Given the description of an element on the screen output the (x, y) to click on. 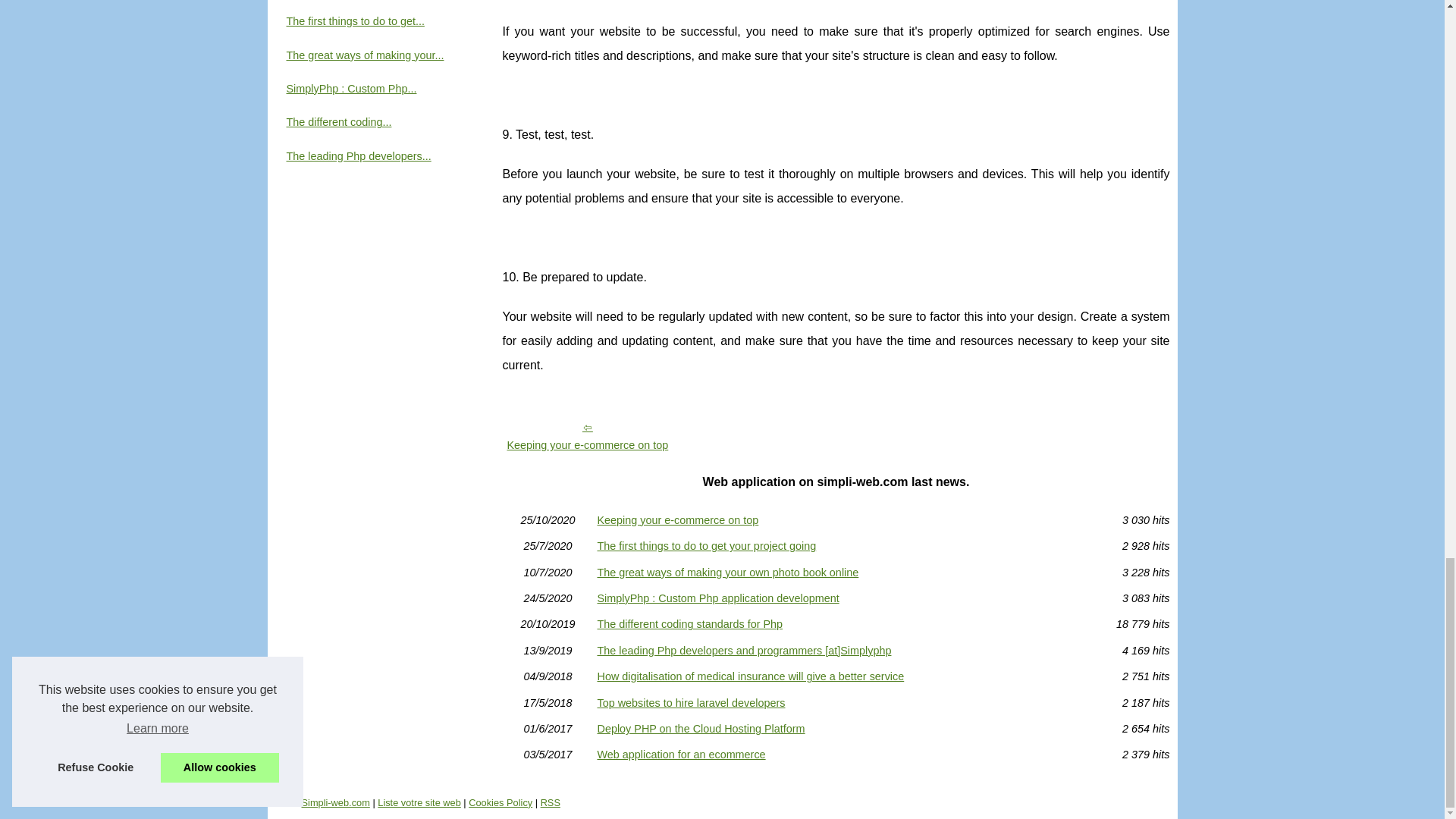
Keeping your e-commerce on top (835, 520)
The first things to do to get your project going (835, 545)
The great ways of making your own photo book online (835, 572)
Deploy PHP on the Cloud Hosting Platform (835, 728)
Top websites to hire laravel developers (835, 702)
Keeping your e-commerce on top (587, 435)
Web application for an ecommerce (835, 754)
Keeping your e-commerce on top (587, 435)
The first things to do to get your project going (835, 545)
Web application for an ecommerce (835, 754)
The different coding standards for Php (835, 624)
The different coding standards for Php (835, 624)
SimplyPhp : Custom Php application development (835, 597)
